Given the description of an element on the screen output the (x, y) to click on. 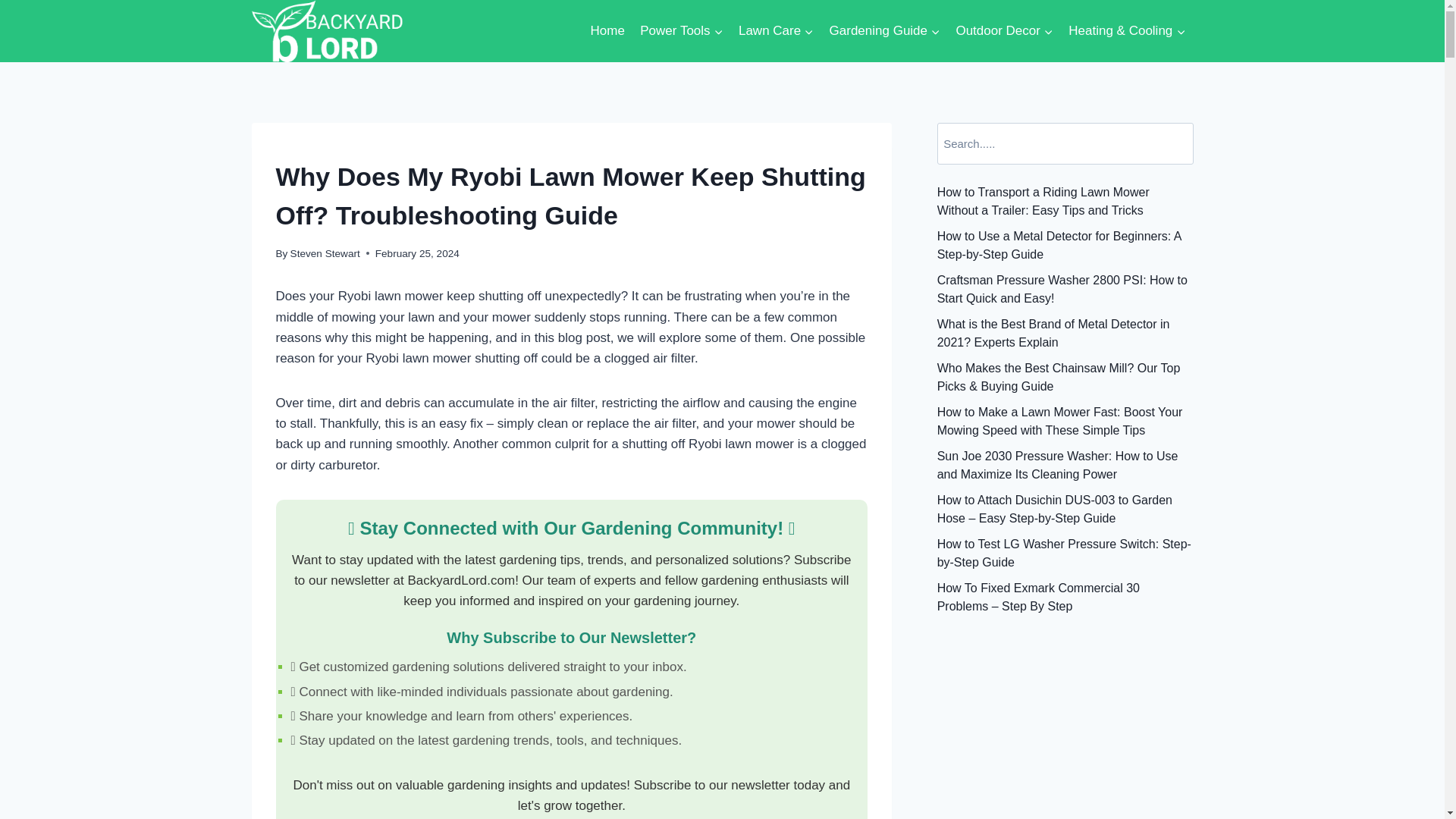
Power Tools (680, 30)
Home (606, 30)
Outdoor Decor (1004, 30)
Gardening Guide (884, 30)
Steven Stewart (324, 253)
Lawn Care (776, 30)
